Given the description of an element on the screen output the (x, y) to click on. 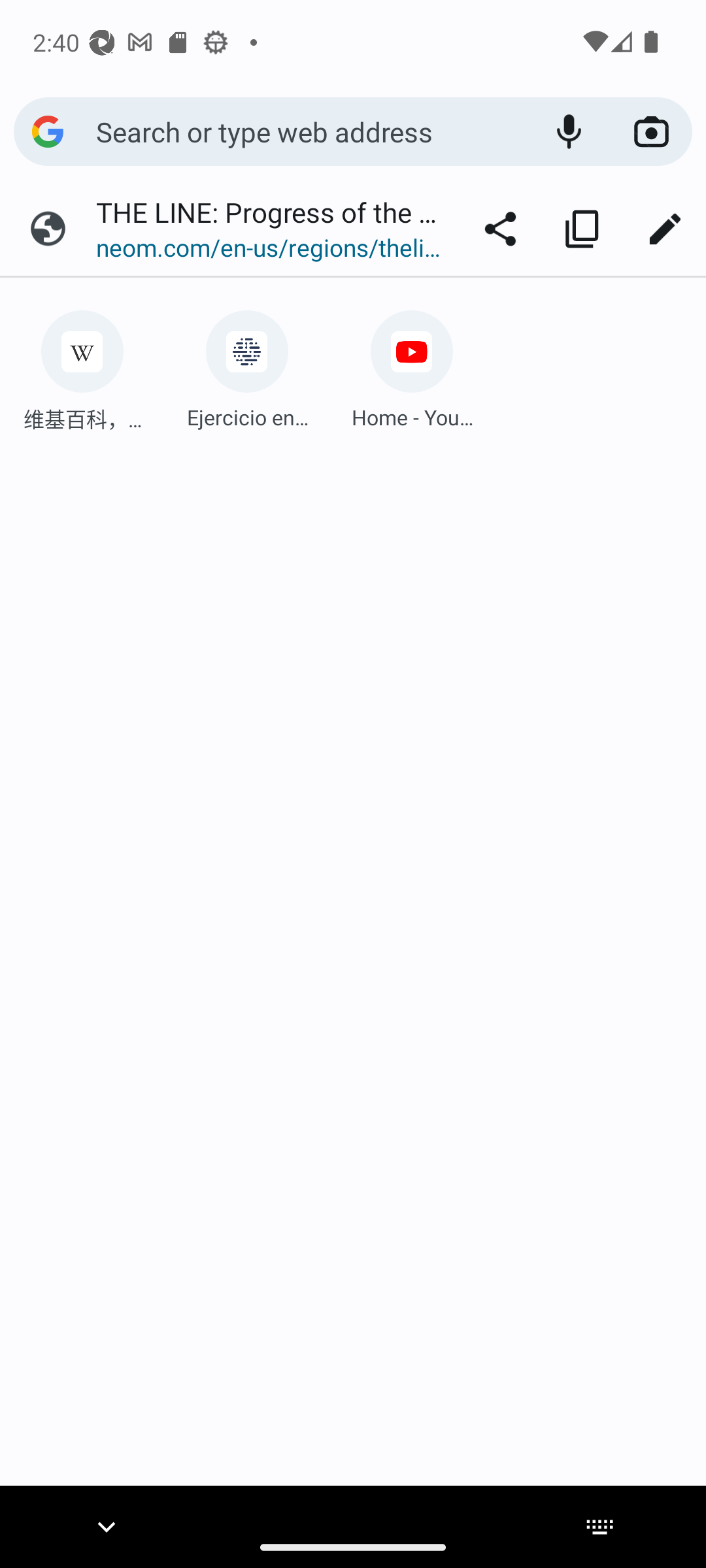
Start voice search (568, 131)
Search with your camera using Google Lens (650, 131)
Search or type web address (311, 131)
Share… (499, 228)
Copy link (582, 228)
Edit (664, 228)
维基百科，自由的百科全书: zh.m.wikipedia.org 维基百科，自由的百科全书 (82, 364)
Home - YouTube: m.youtube.com Home - YouTube (411, 364)
